Given the description of an element on the screen output the (x, y) to click on. 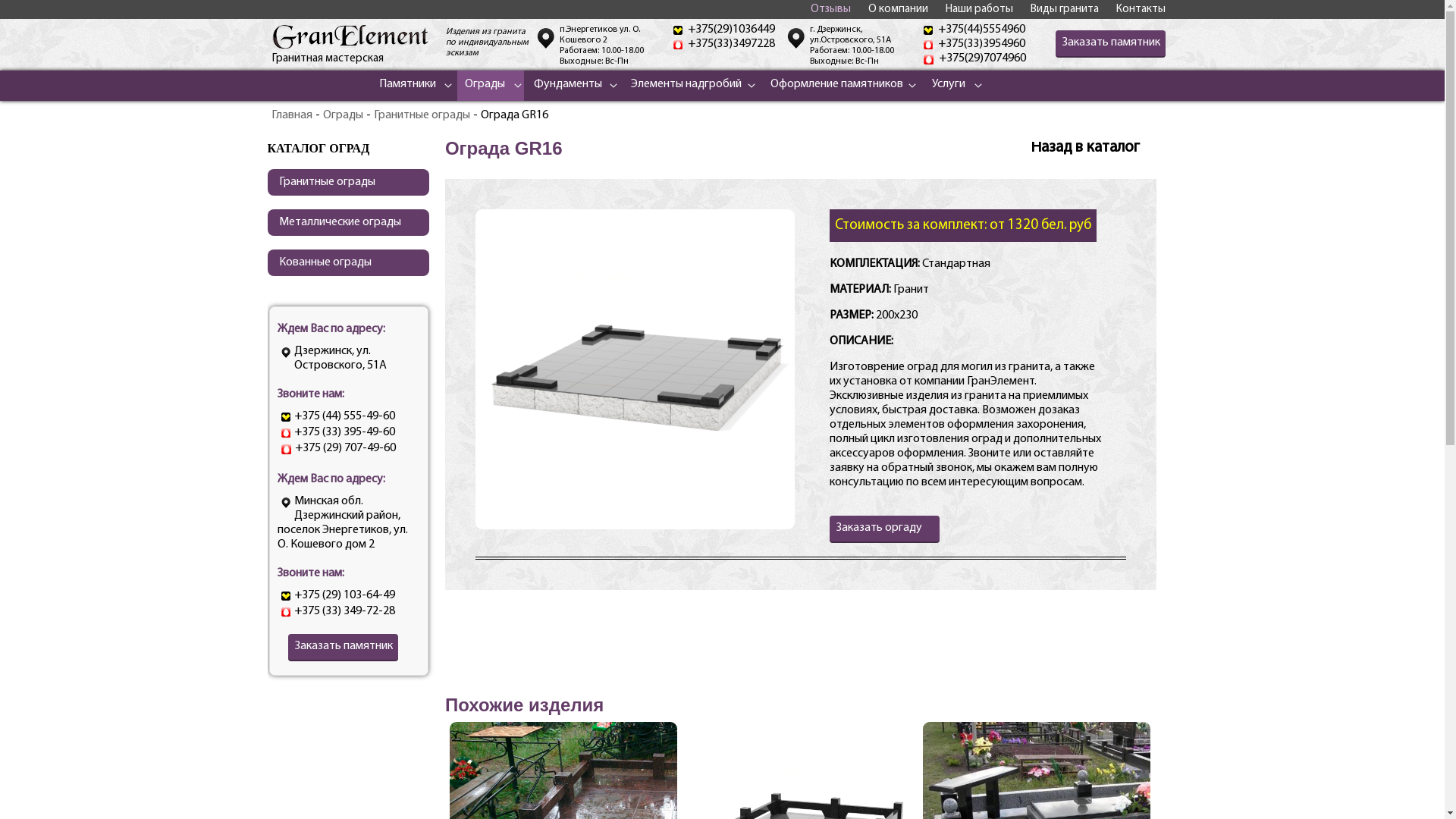
+375(33)3497228 Element type: text (730, 43)
+375 (33) 349-72-28 Element type: text (344, 611)
+375(29)7074960 Element type: text (982, 58)
+375(33)3954960 Element type: text (980, 43)
+375 (29) 103-64-49 Element type: text (344, 595)
+375 (44) 555-49-60 Element type: text (344, 416)
+375 (29) 707-49-60 Element type: text (344, 448)
+375 (33) 395-49-60 Element type: text (344, 432)
+375(29)1036449 Element type: text (730, 29)
+375(44)5554960 Element type: text (980, 29)
